Given the description of an element on the screen output the (x, y) to click on. 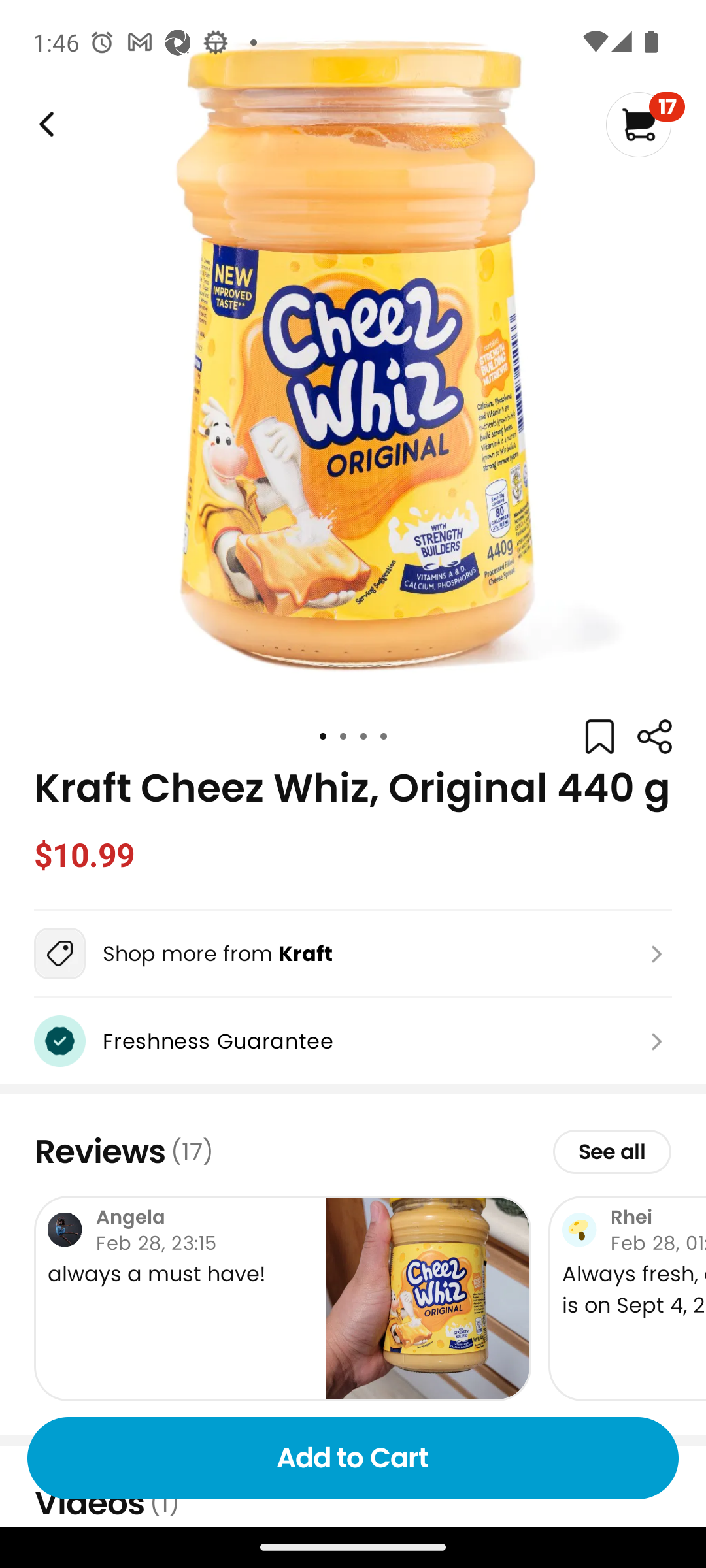
17 (644, 124)
Weee! (45, 124)
Weee! (653, 736)
Shop more from Kraft Weee! (352, 953)
Freshness Guarantee (352, 1040)
Reviews (17) See all (353, 1151)
Angela Feb 28, 23:15 always a must have! (282, 1297)
Add to Cart (352, 1458)
